Given the description of an element on the screen output the (x, y) to click on. 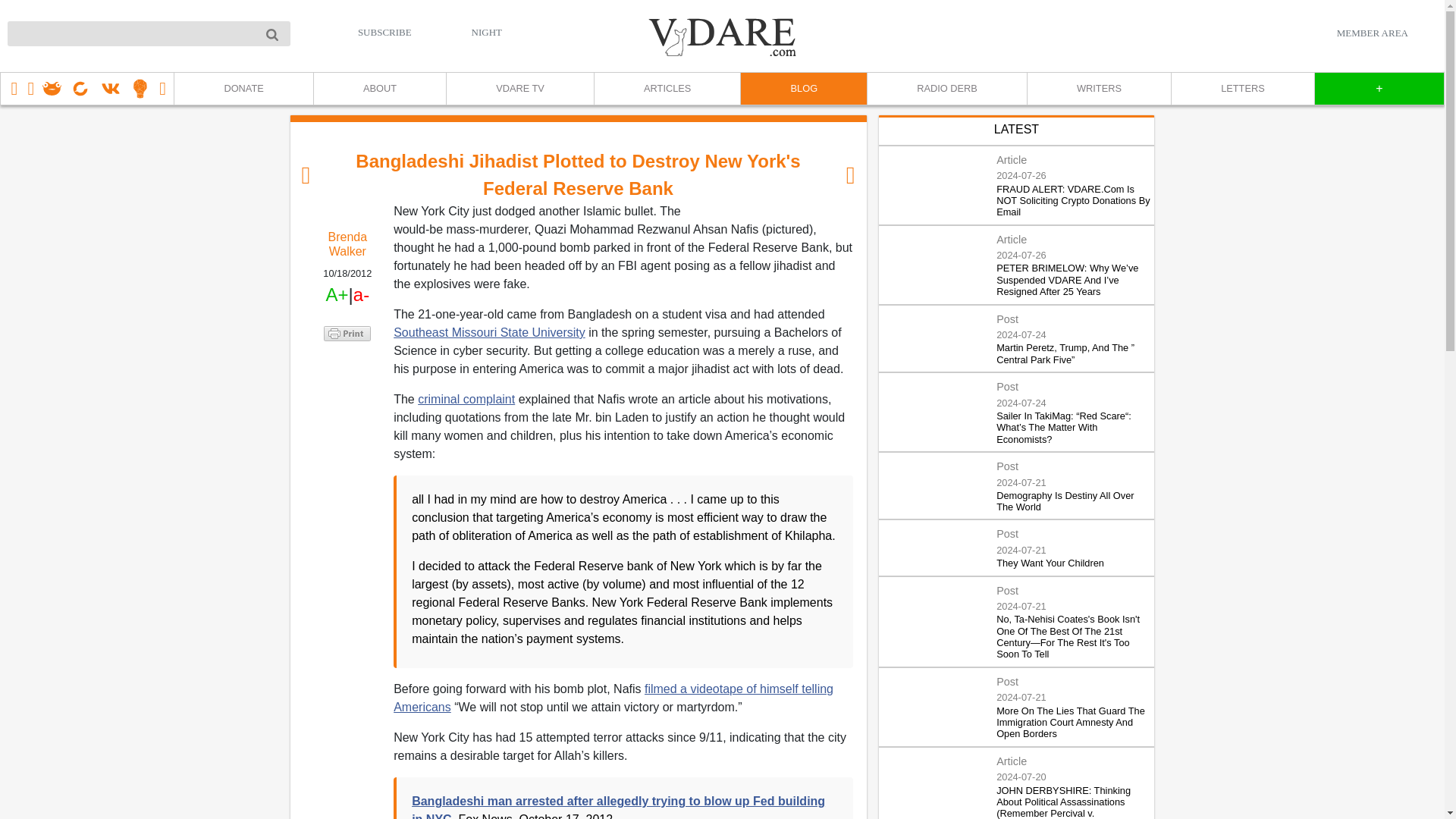
LETTERS (1242, 88)
VDARE TV (519, 88)
Share to Email (347, 418)
WRITERS (1098, 88)
SUBSCRIBE (385, 31)
BLOG (802, 88)
DONATE (243, 88)
MEMBER AREA (1371, 32)
Share to Twitter (347, 372)
RADIO DERB (946, 88)
